Given the description of an element on the screen output the (x, y) to click on. 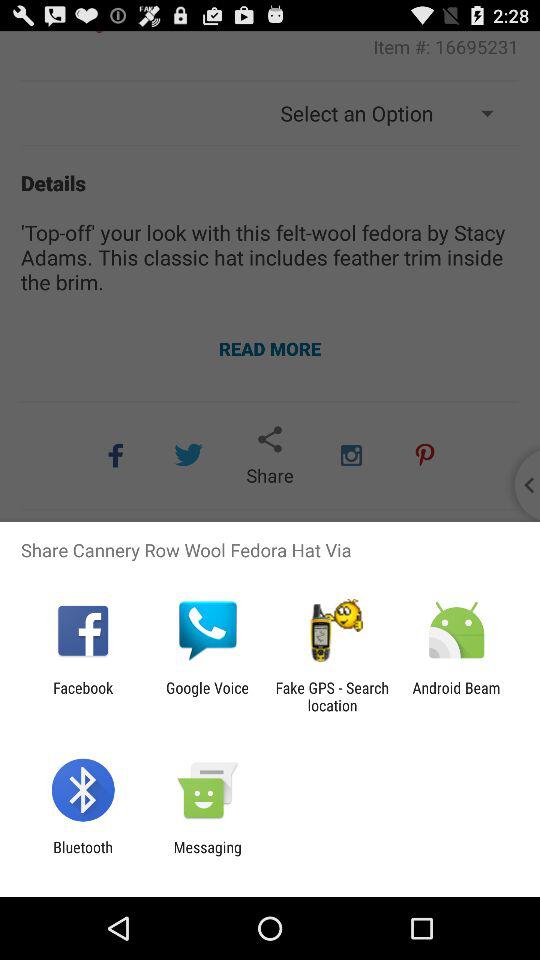
choose the item next to android beam (332, 696)
